Given the description of an element on the screen output the (x, y) to click on. 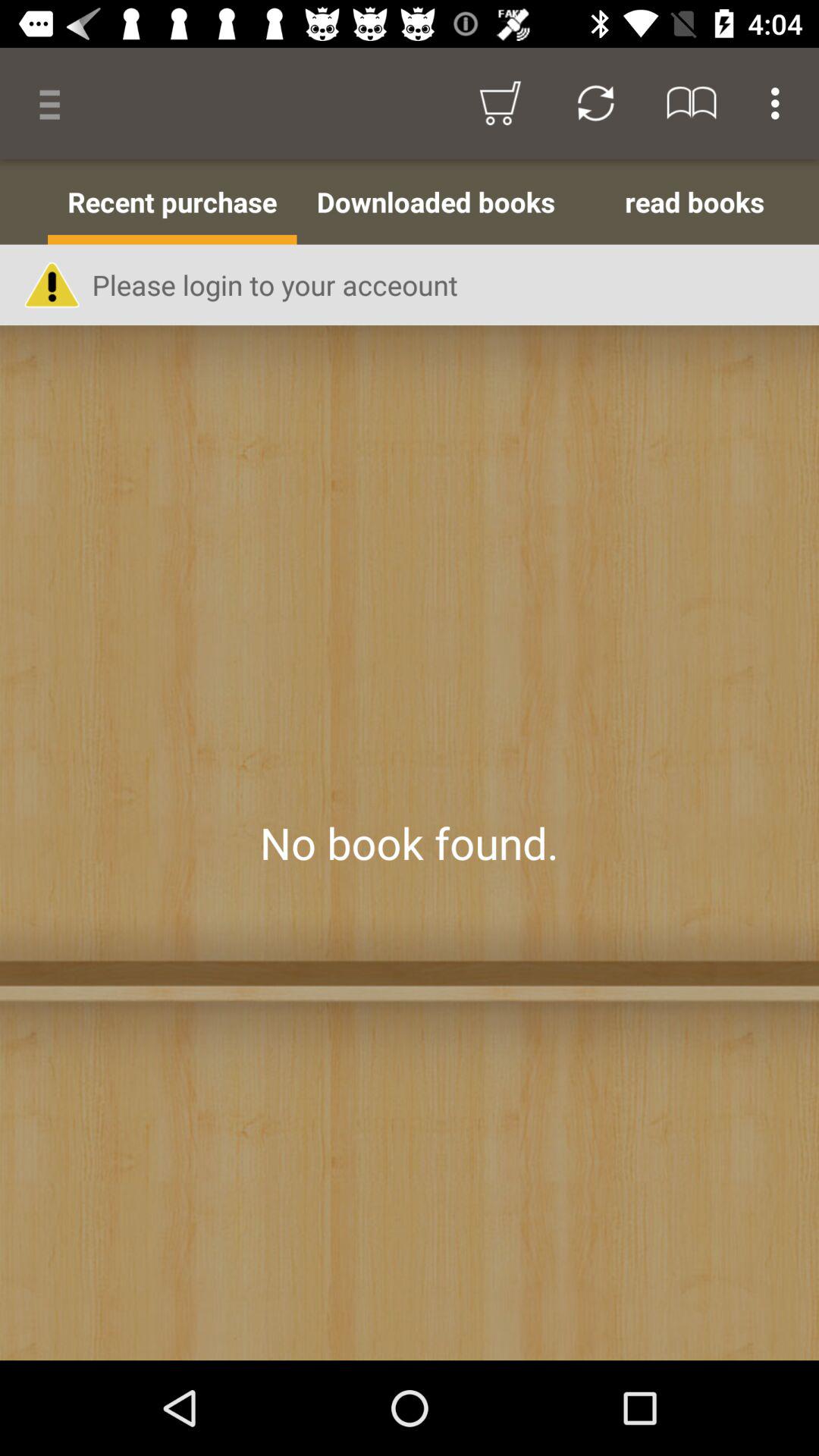
launch icon to the right of read books icon (816, 201)
